Given the description of an element on the screen output the (x, y) to click on. 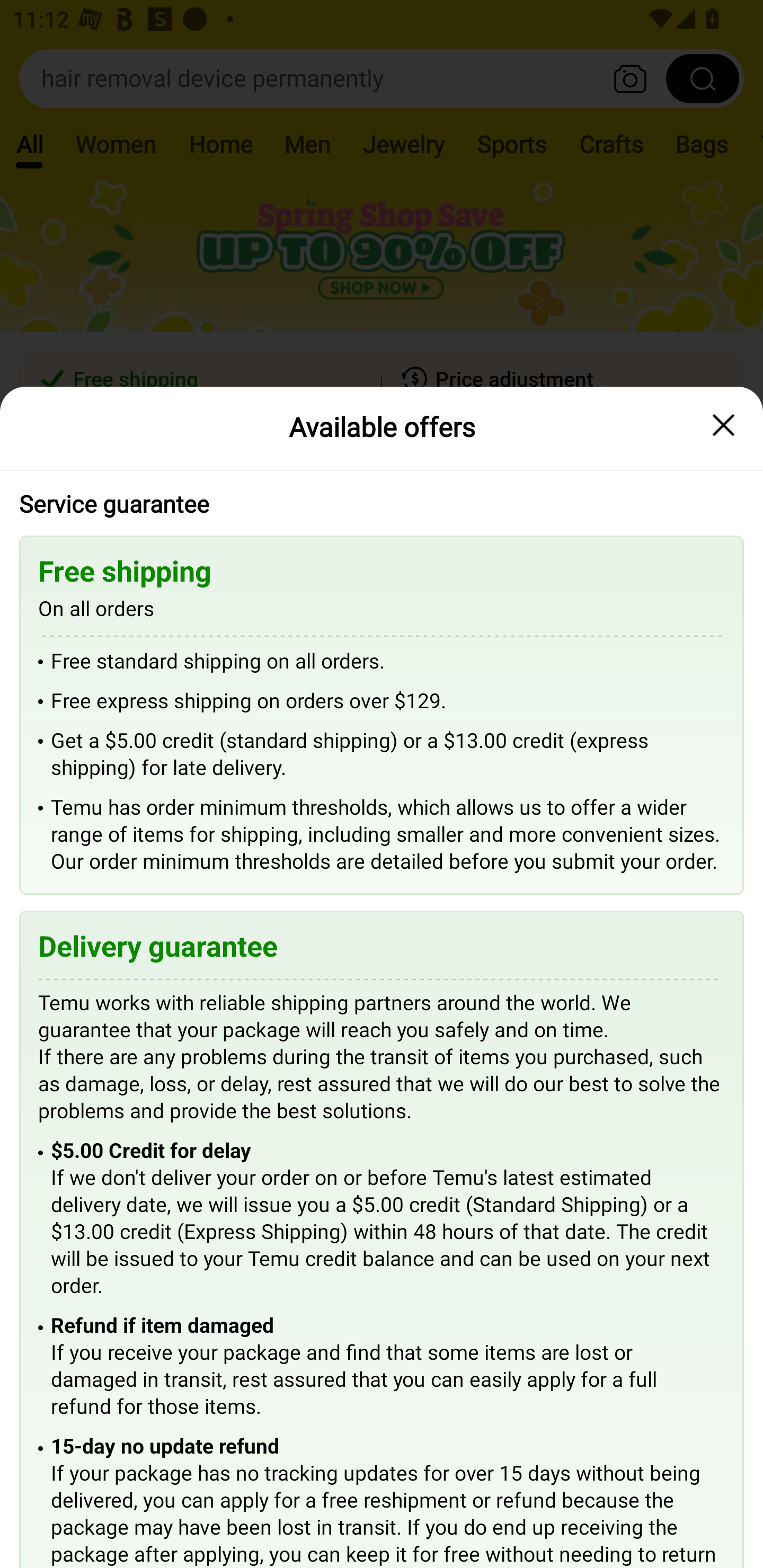
Lightning deals (379, 524)
